Given the description of an element on the screen output the (x, y) to click on. 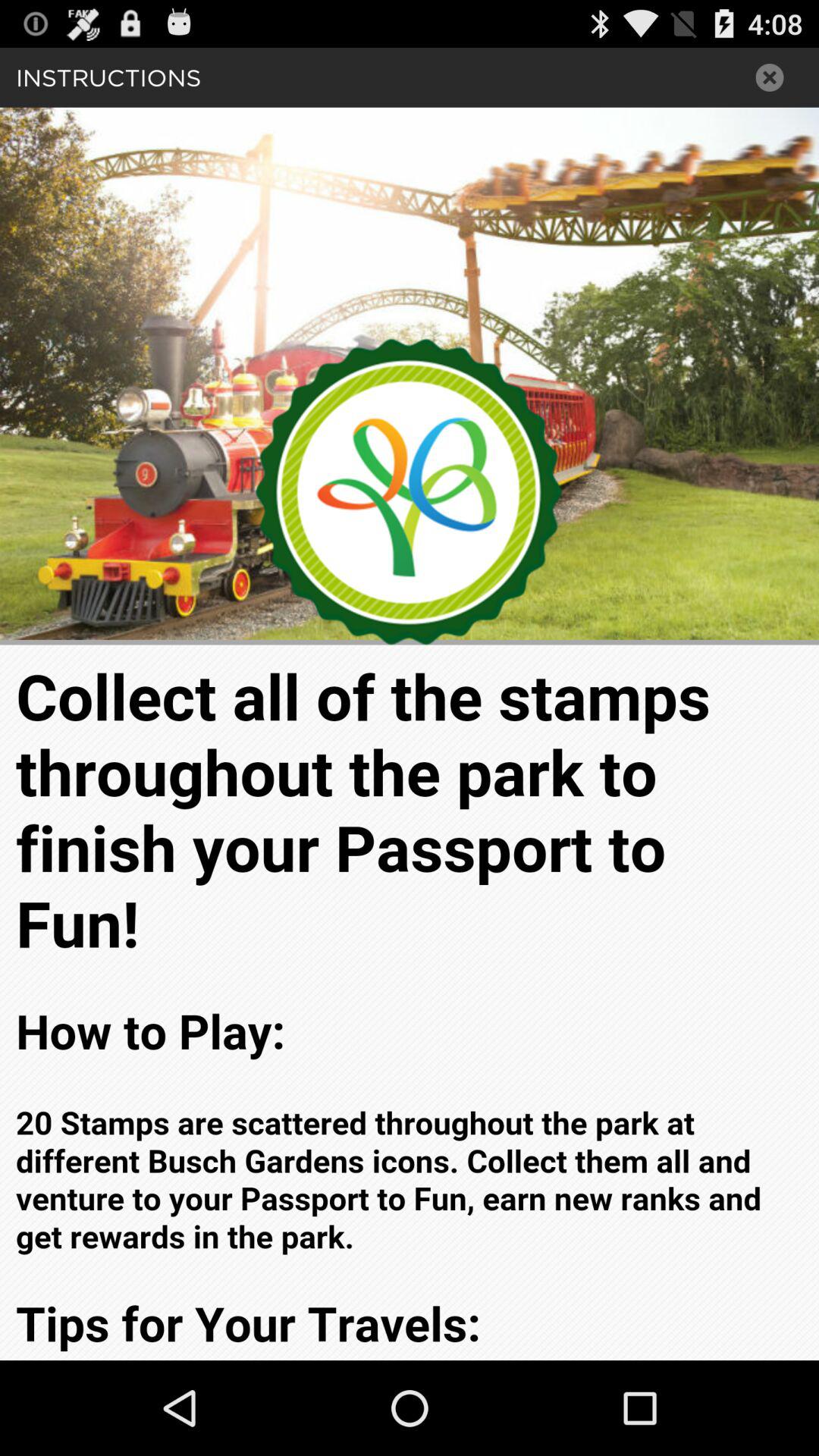
x (770, 77)
